Given the description of an element on the screen output the (x, y) to click on. 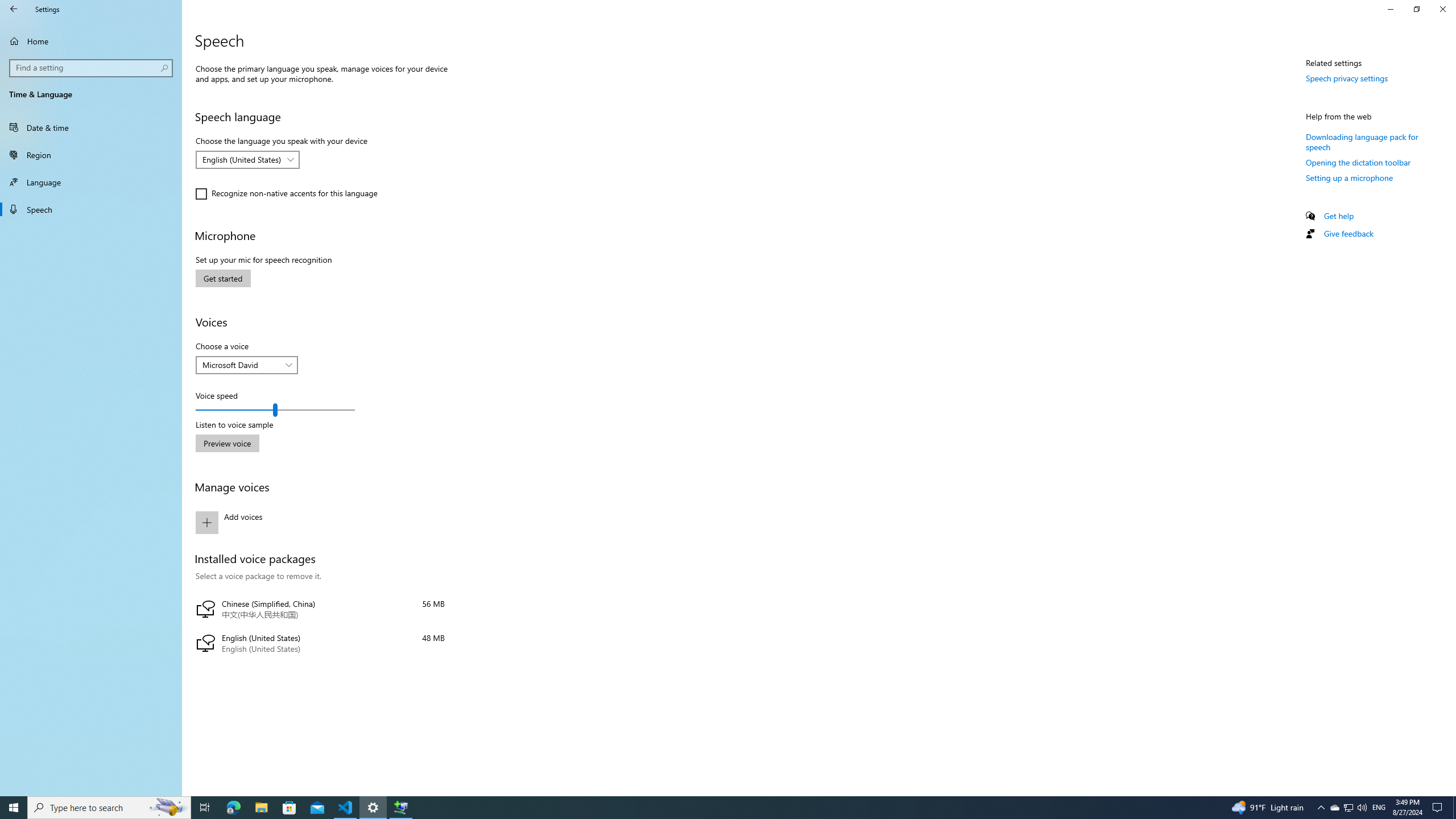
Downloading language pack for speech (1362, 141)
Settings - 1 running window (373, 807)
Choose the language you speak with your device (247, 159)
Setting up a microphone (1349, 177)
Type here to search (108, 807)
Get started (222, 278)
Choose a voice (246, 365)
Search highlights icon opens search home window (167, 807)
Speech (91, 208)
Microsoft Edge (233, 807)
Start (13, 807)
Give feedback (1348, 233)
Region (91, 154)
